Given the description of an element on the screen output the (x, y) to click on. 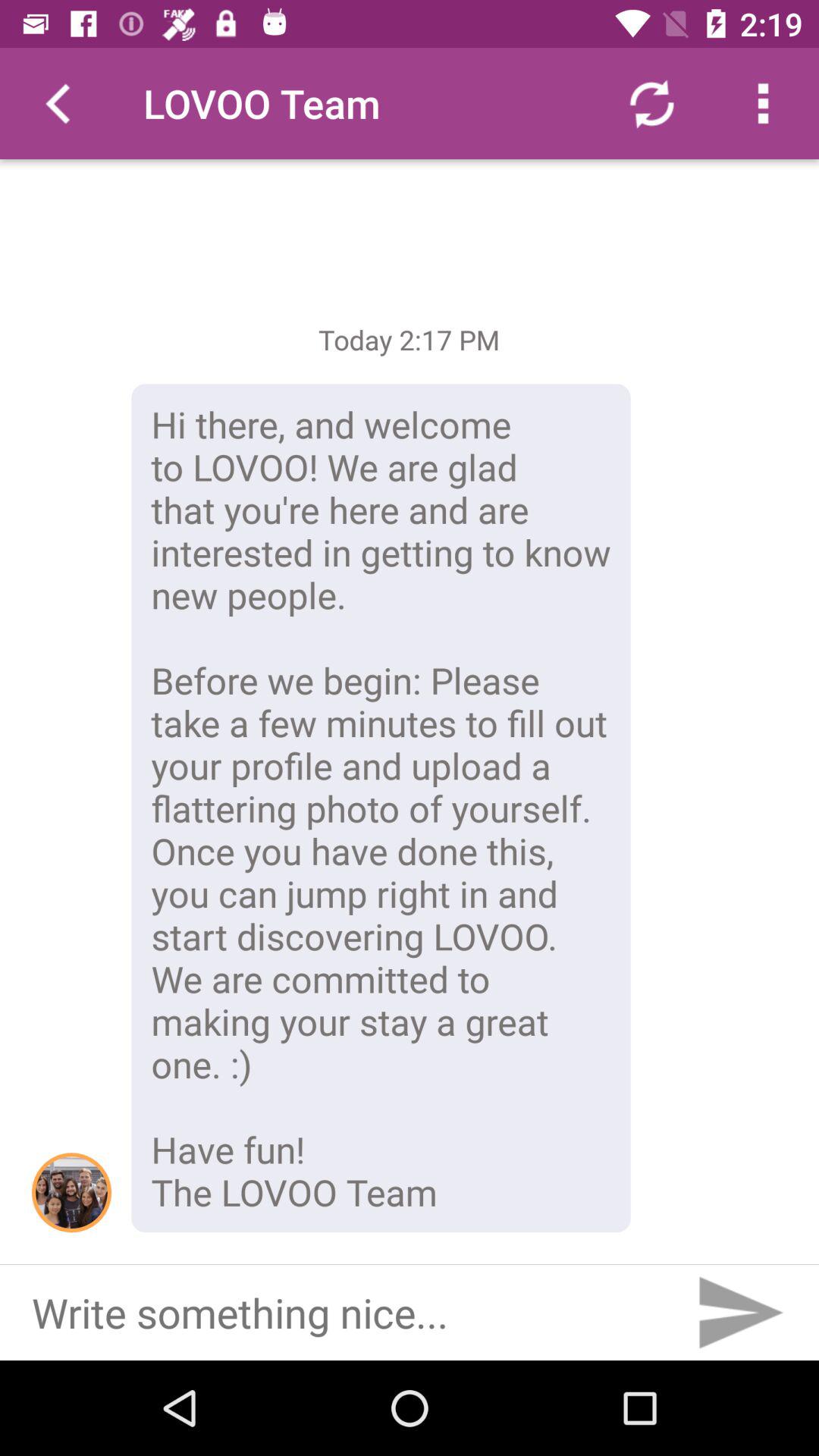
select item above hi there and (651, 103)
